Given the description of an element on the screen output the (x, y) to click on. 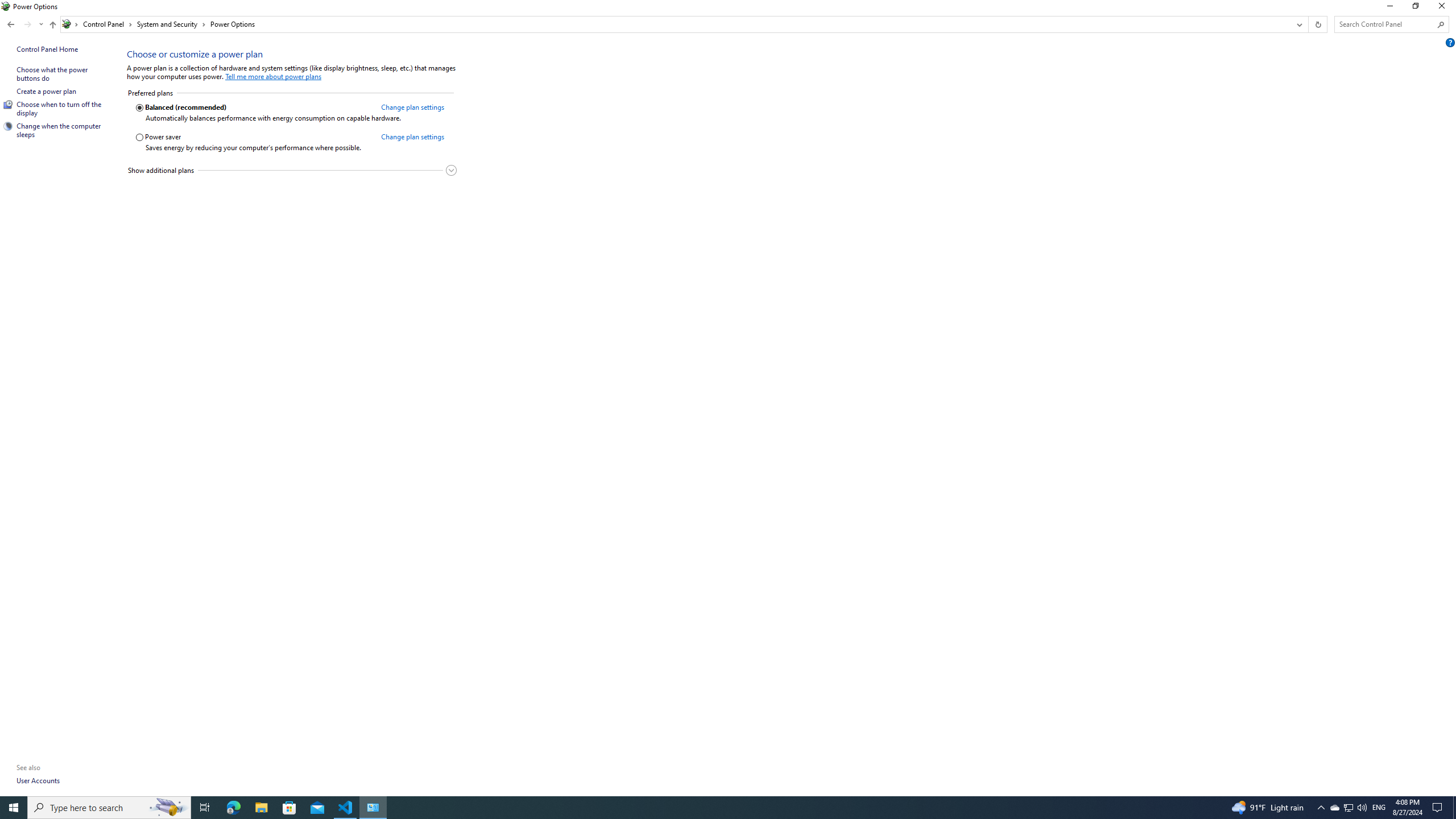
Recent locations (40, 23)
Up to "System and Security" (Alt + Up Arrow) (52, 24)
Control Panel - 1 running window (373, 807)
Change plan settings for the Power saver plan (412, 136)
Control Panel (107, 23)
Previous Locations (1298, 23)
Refresh "Power Options" (F5) (1316, 23)
Show additional plans (291, 170)
Choose when to turn off the display (59, 108)
